Given the description of an element on the screen output the (x, y) to click on. 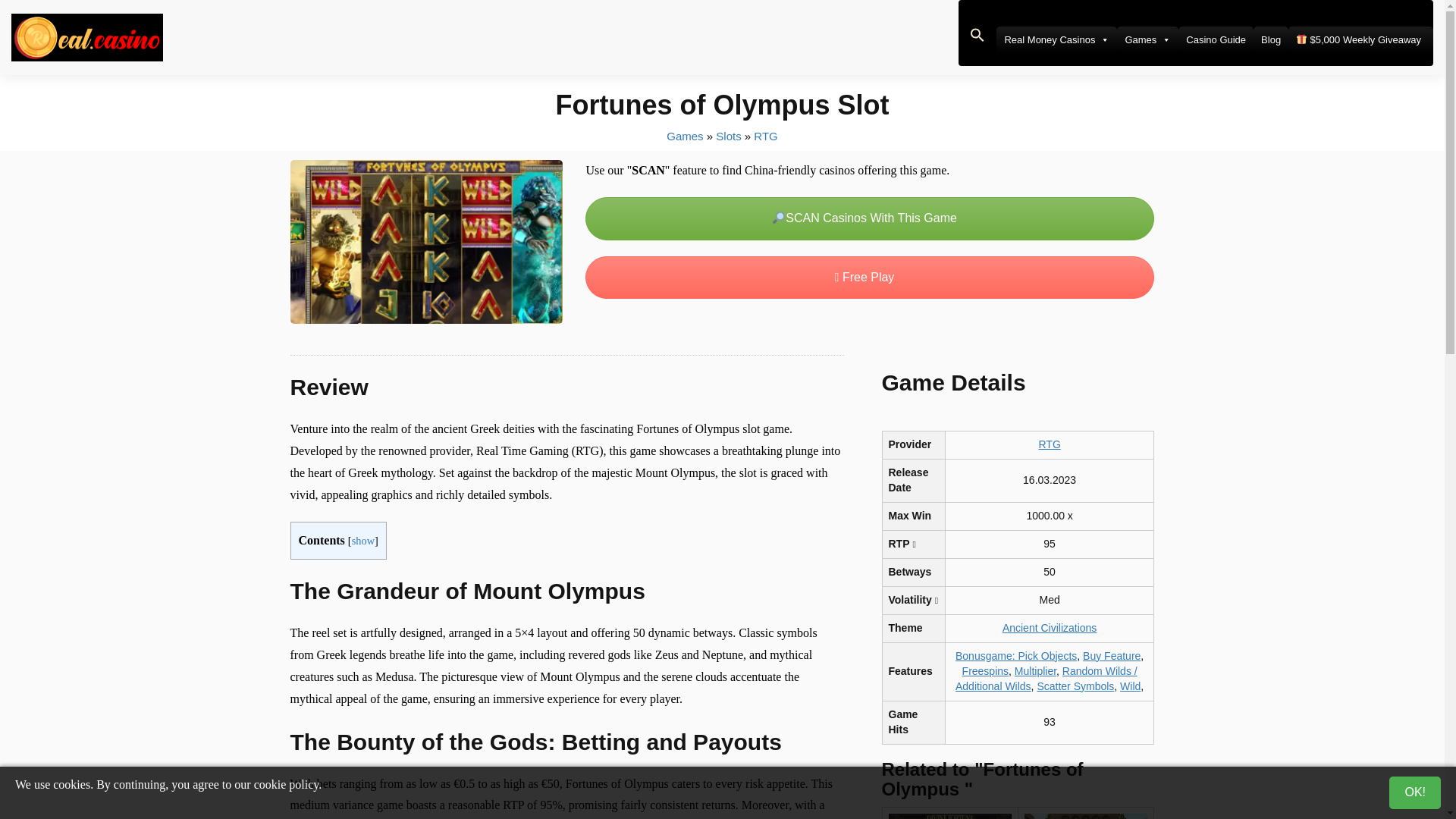
Games (1146, 39)
Online Casino Games (684, 135)
Online Slots (728, 135)
Real Money Casinos (1055, 39)
RTG Slots (765, 135)
